Given the description of an element on the screen output the (x, y) to click on. 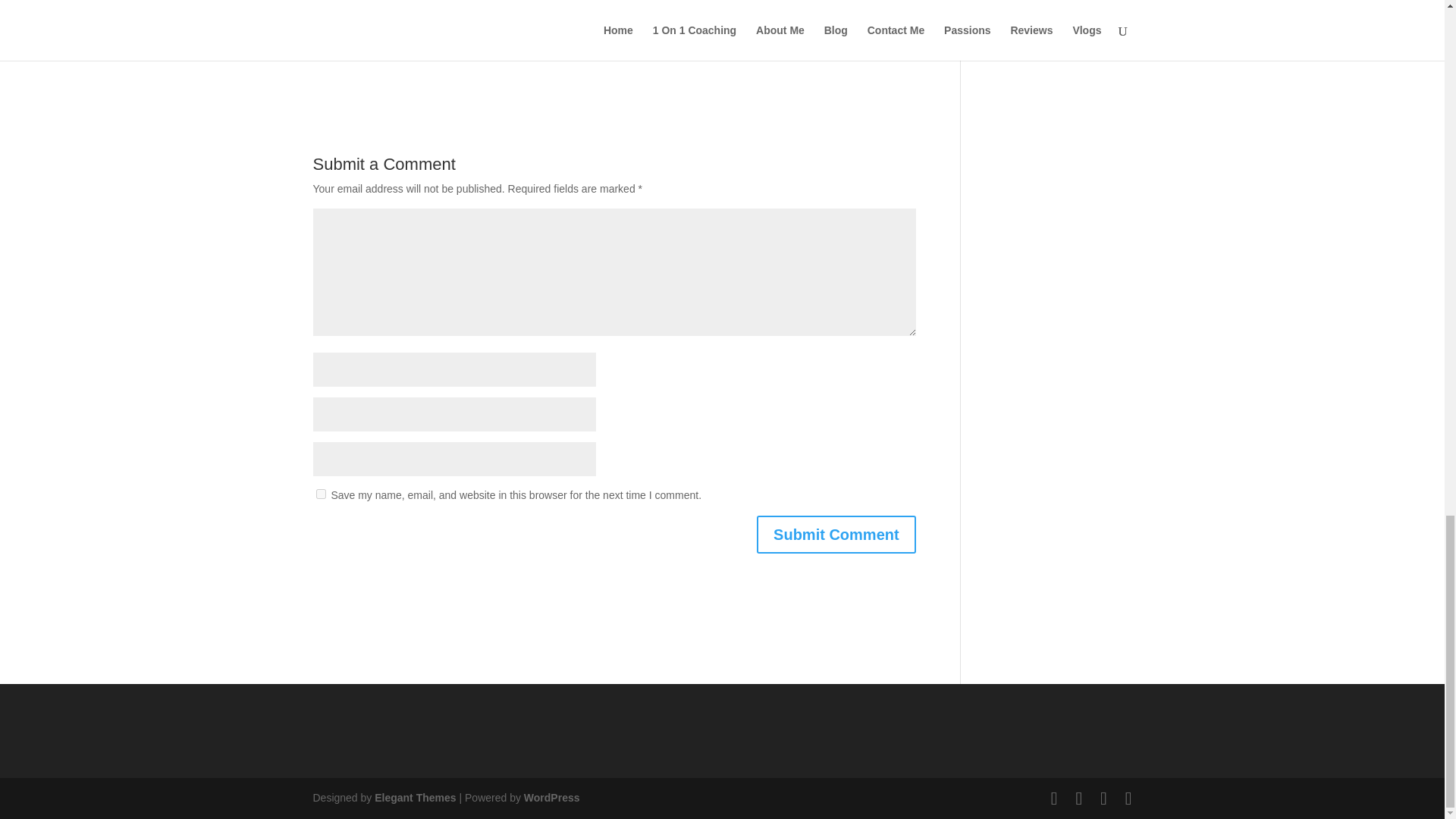
Submit Comment (836, 534)
Is Affiliate Marketing Really Dead? (410, 9)
Is Affiliate Marketing Really Dead? (410, 9)
yes (319, 493)
Premium WordPress Themes (414, 797)
Submit Comment (836, 534)
